Given the description of an element on the screen output the (x, y) to click on. 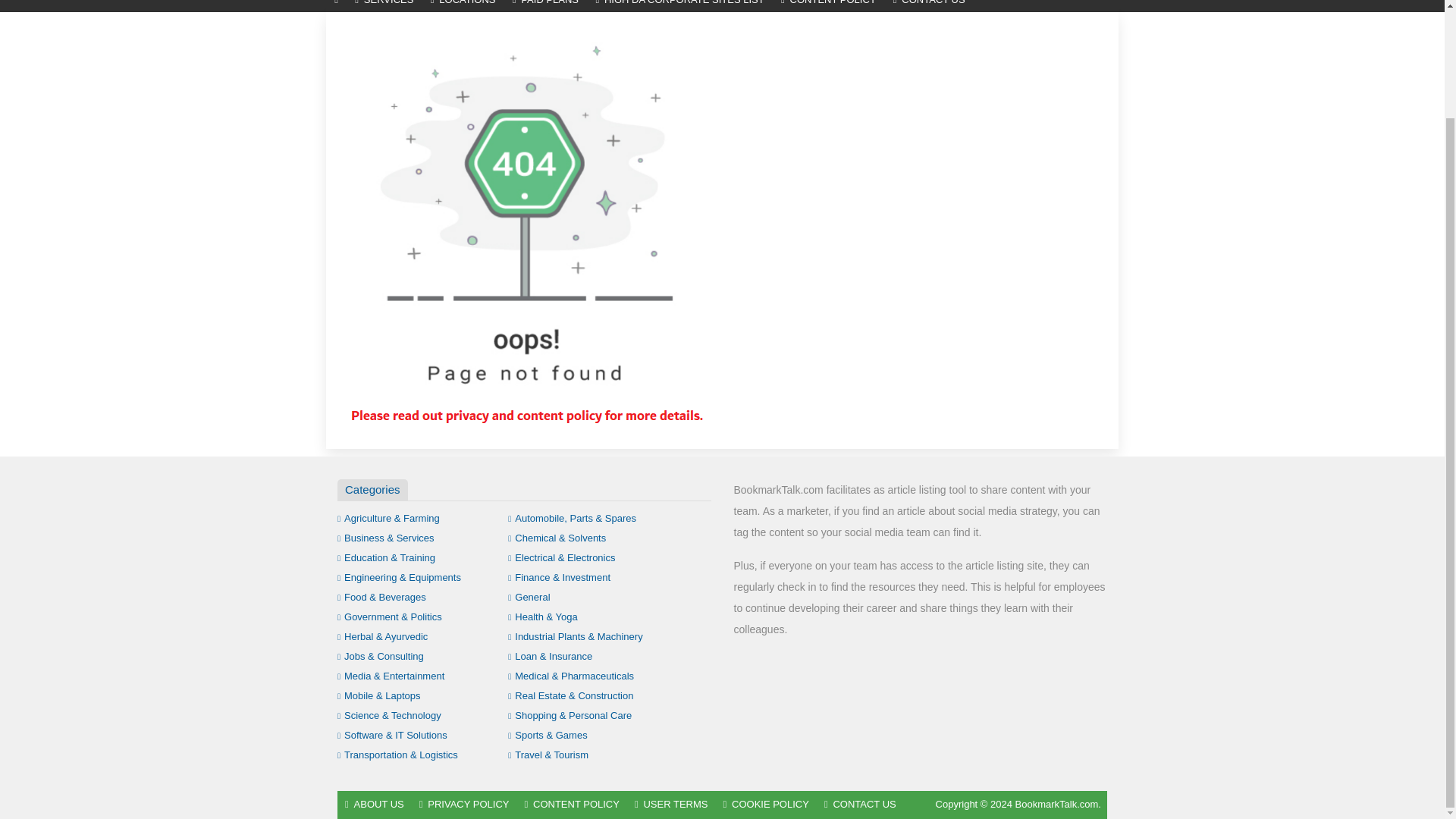
CONTENT POLICY (829, 6)
PAID PLANS (545, 6)
HOME (336, 6)
CONTACT US (929, 6)
General (529, 596)
HIGH DA CORPORATE SITES LIST (679, 6)
LOCATIONS (462, 6)
SERVICES (384, 6)
